Given the description of an element on the screen output the (x, y) to click on. 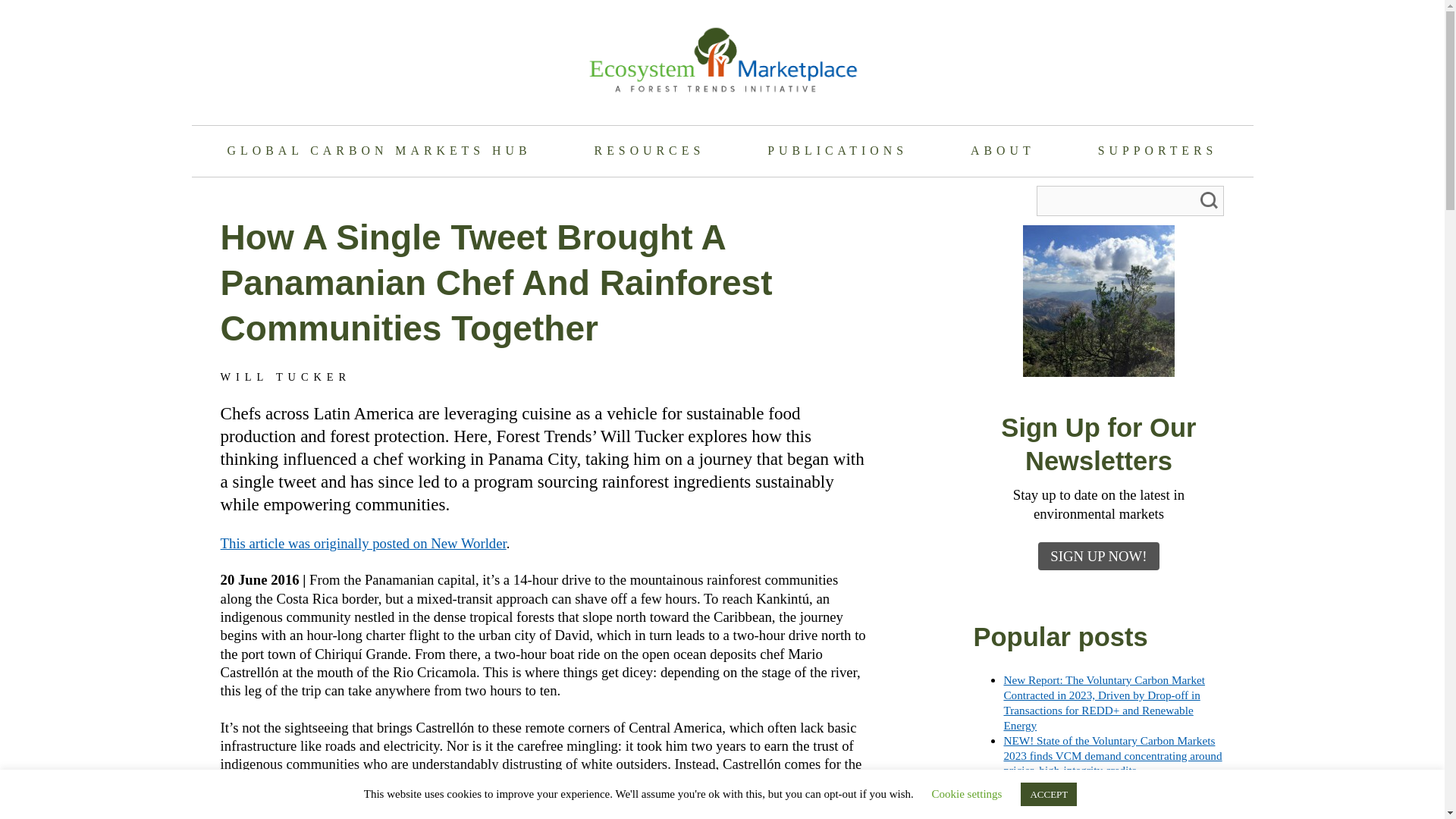
SIGN UP NOW! (1098, 556)
ABOUT (1002, 151)
PUBLICATIONS (837, 151)
GLOBAL CARBON MARKETS HUB (378, 151)
This article was originally posted on New Worlder (363, 543)
RESOURCES (649, 151)
Search (1208, 200)
Search (1208, 200)
Search (1208, 200)
SUPPORTERS (1157, 151)
